Given the description of an element on the screen output the (x, y) to click on. 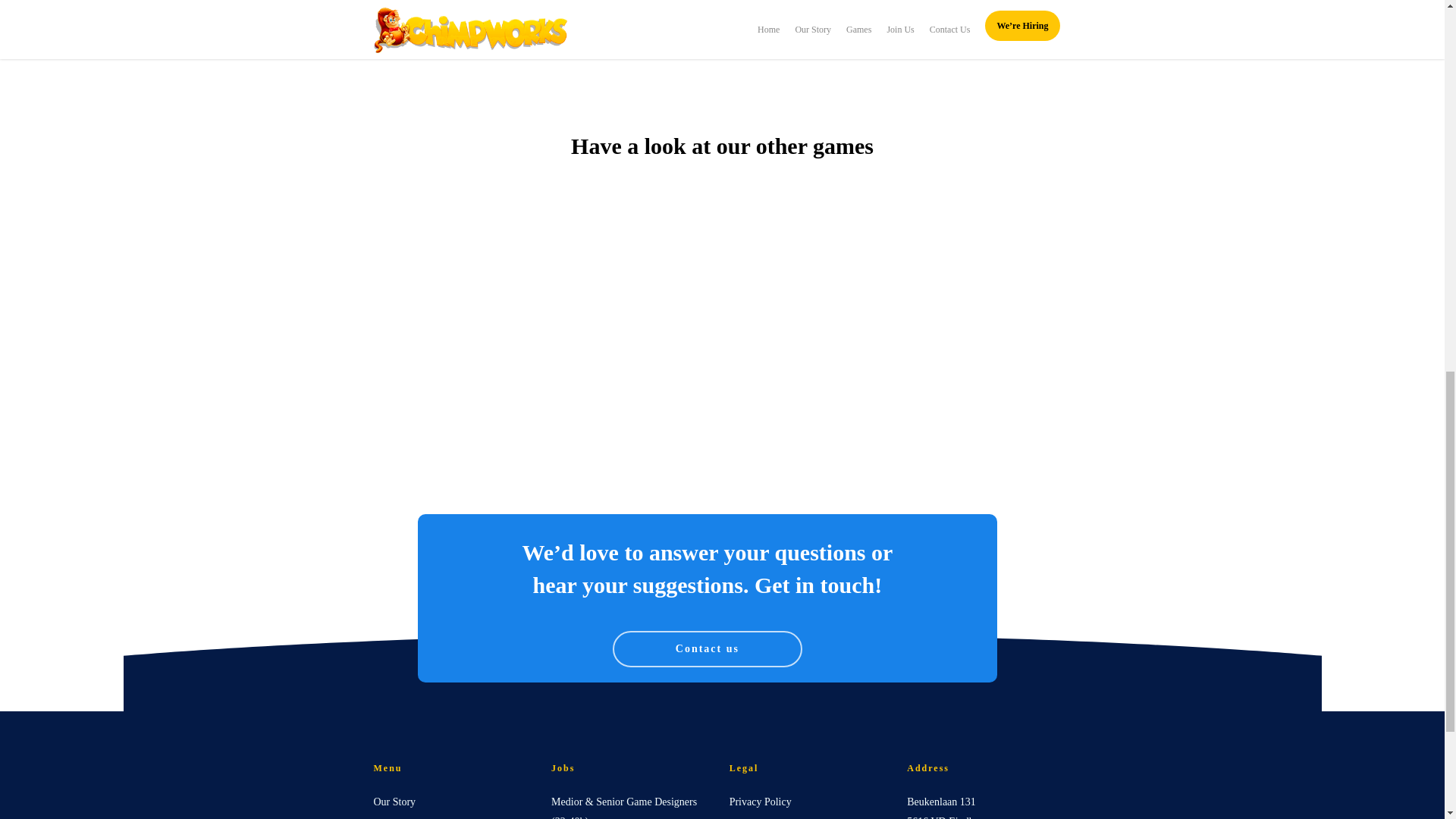
Privacy Policy (811, 802)
Contact us (707, 648)
Our Story (454, 802)
